Given the description of an element on the screen output the (x, y) to click on. 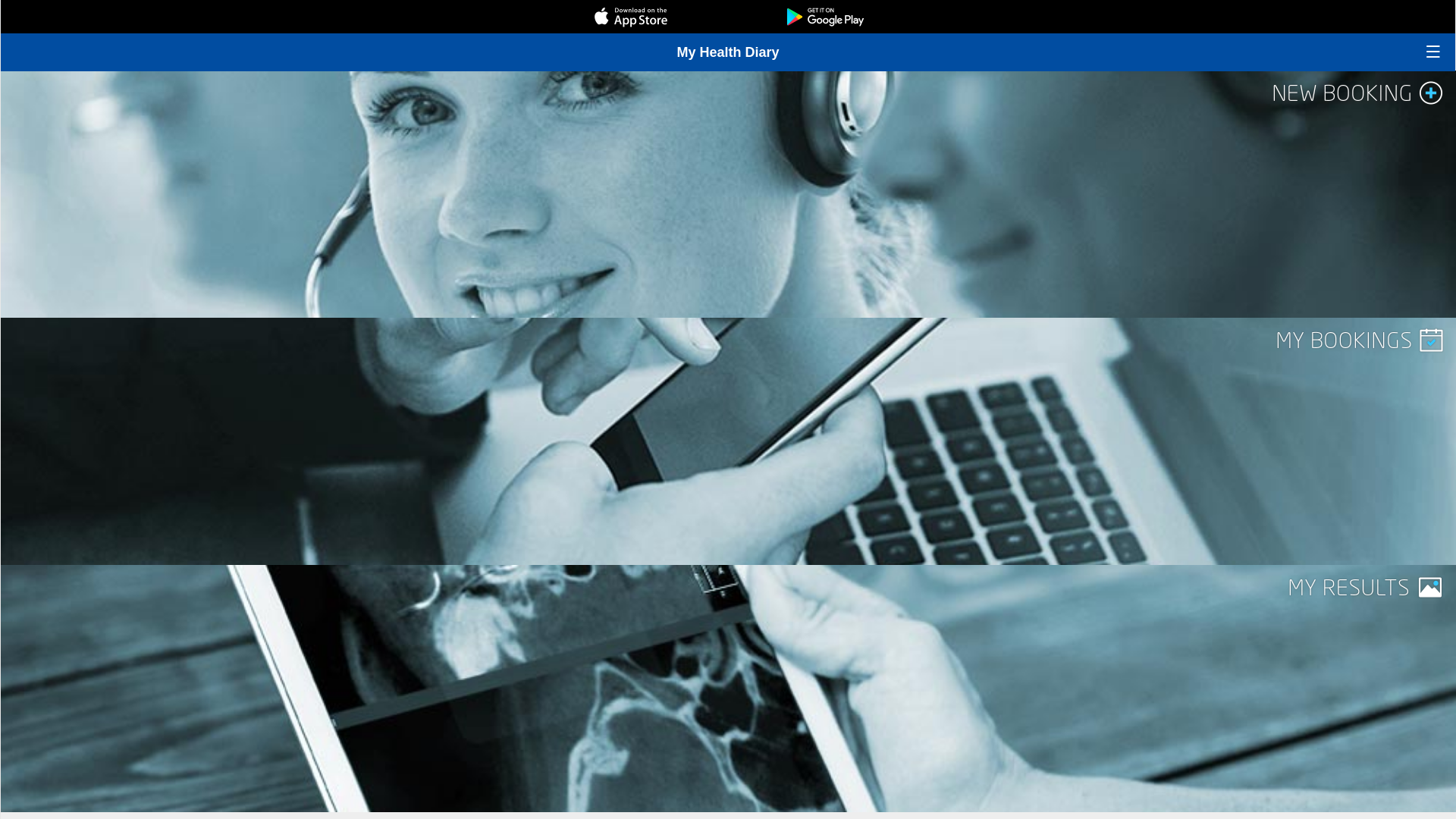
open Element type: text (1433, 51)
